Given the description of an element on the screen output the (x, y) to click on. 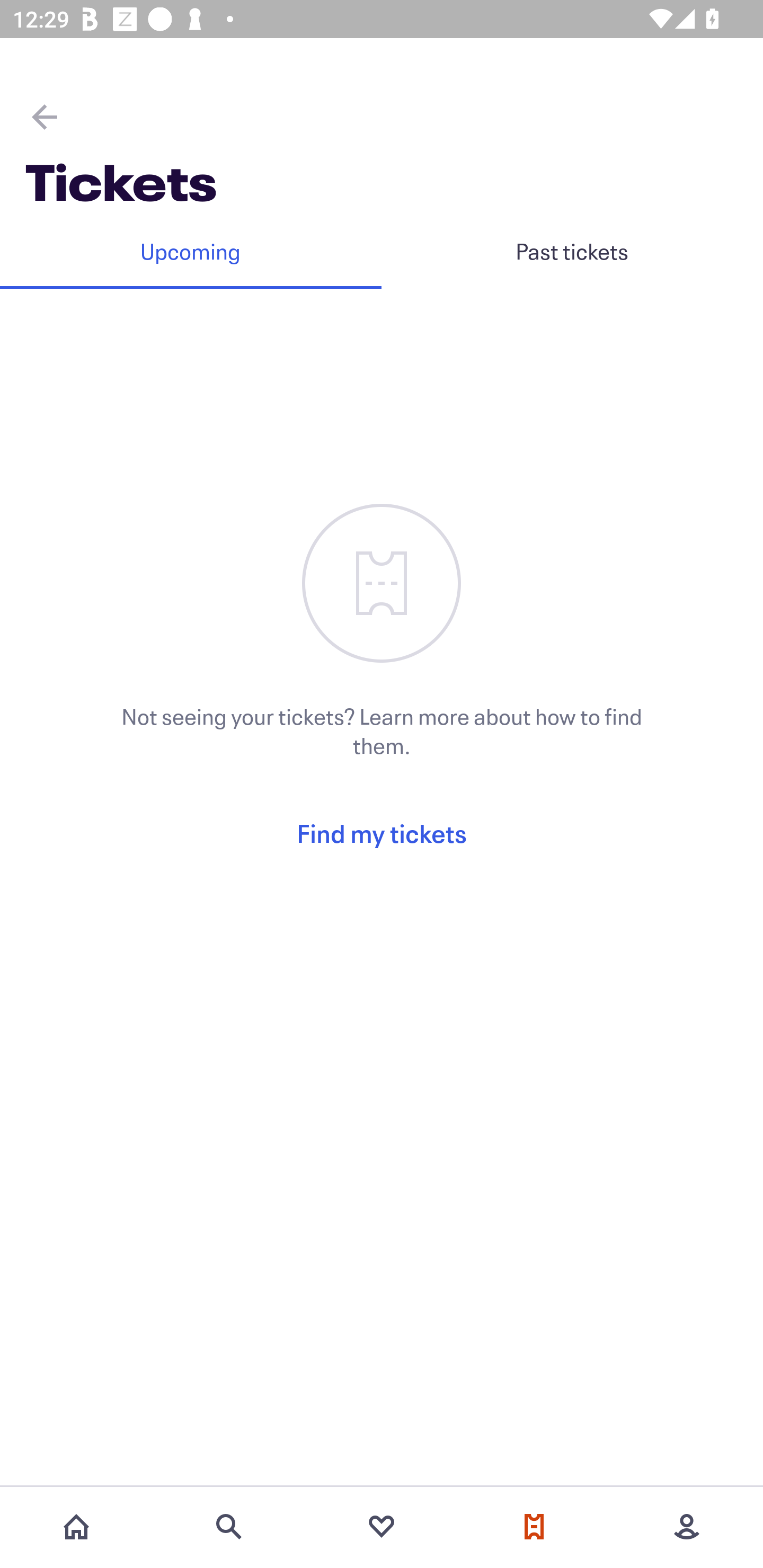
Navigate up (44, 116)
Past tickets (572, 250)
Find my tickets (381, 833)
Home (76, 1526)
Search events (228, 1526)
Favorites (381, 1526)
Tickets (533, 1526)
More (686, 1526)
